Given the description of an element on the screen output the (x, y) to click on. 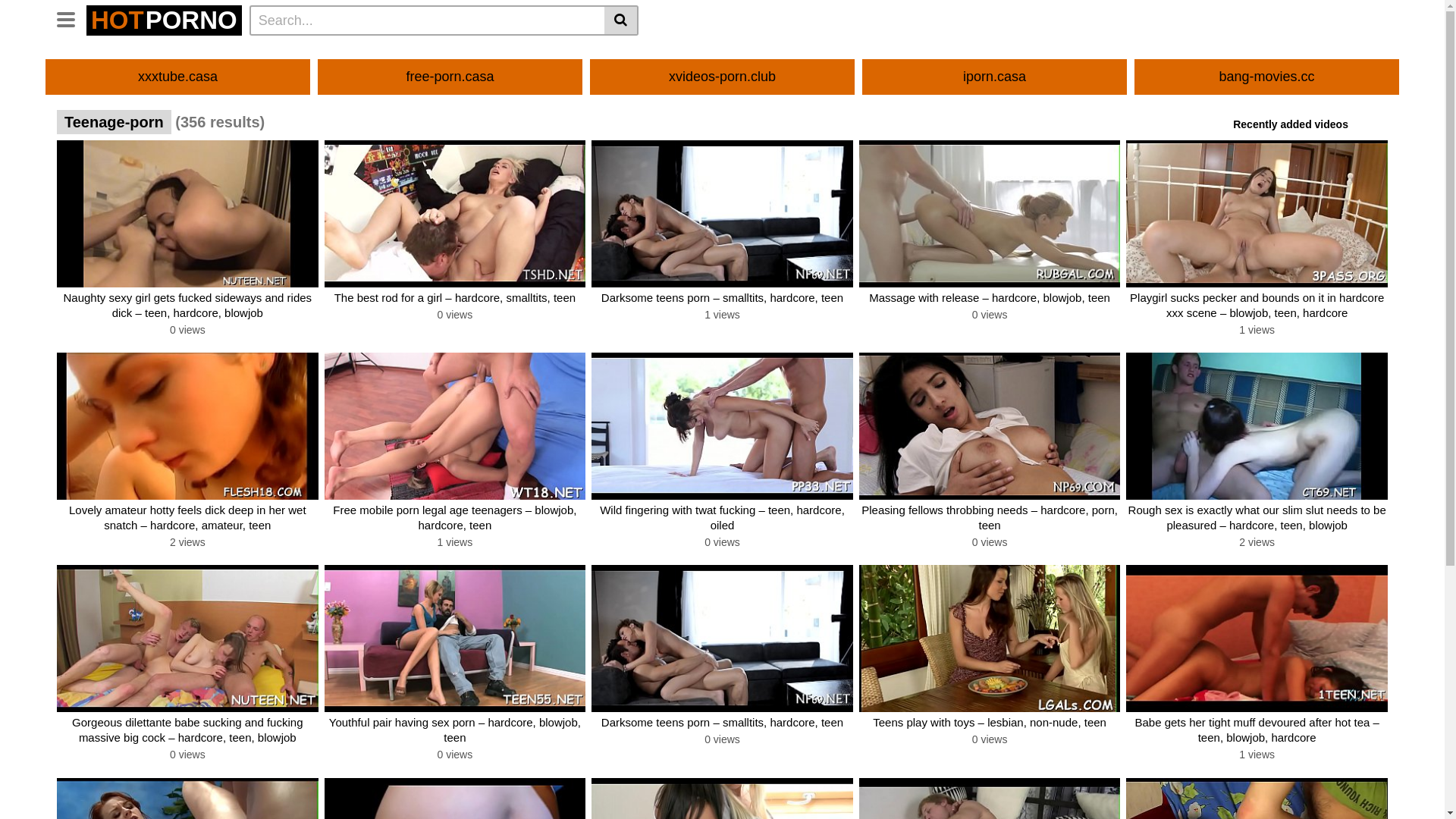
xxxtube.casa Element type: text (177, 76)
xvideos-porn.club Element type: text (721, 76)
free-porn.casa Element type: text (449, 76)
HOTPORNO Element type: text (163, 20)
bang-movies.cc Element type: text (1266, 76)
iporn.casa Element type: text (994, 76)
